Given the description of an element on the screen output the (x, y) to click on. 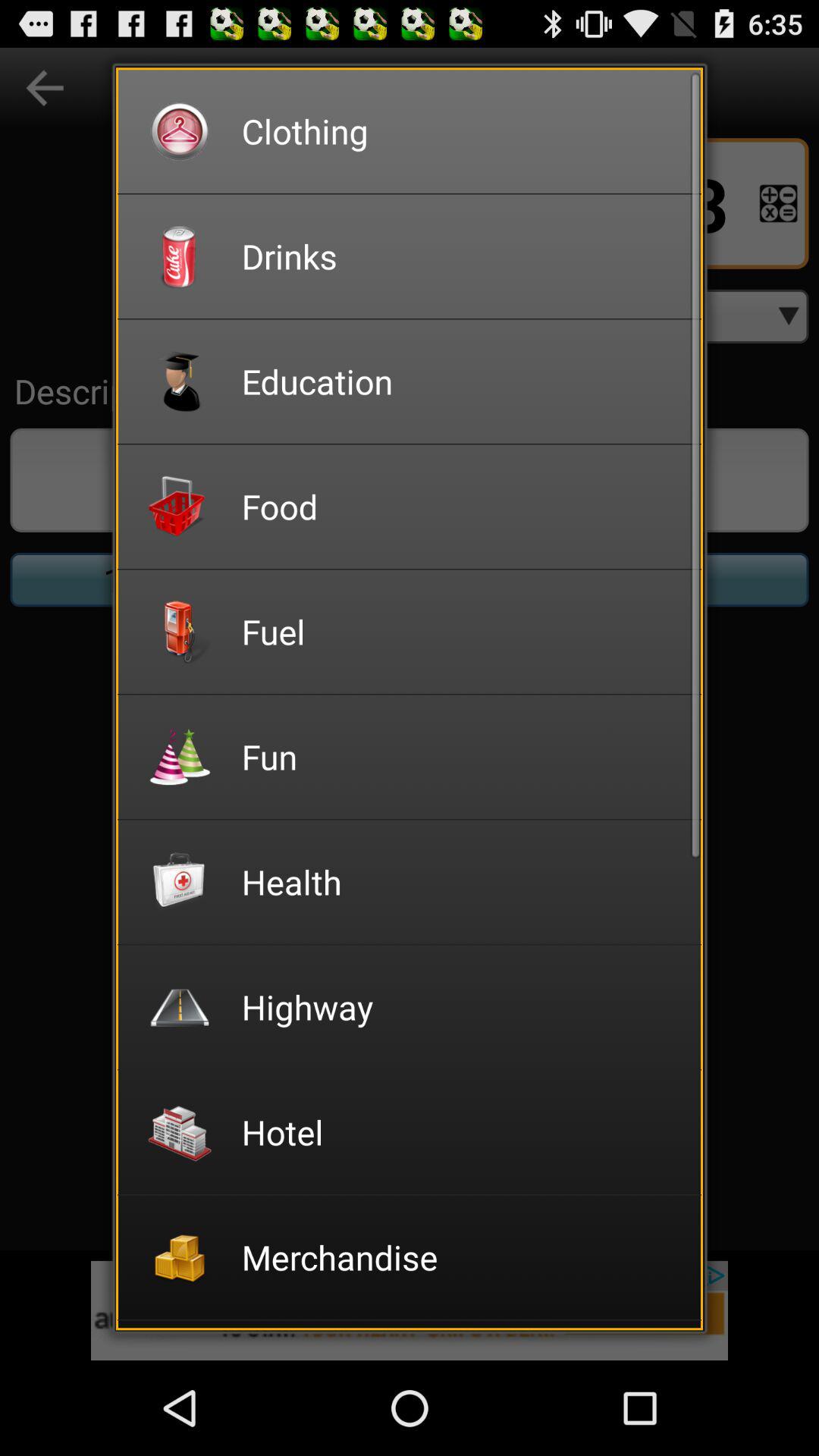
jump to clothing (461, 131)
